Given the description of an element on the screen output the (x, y) to click on. 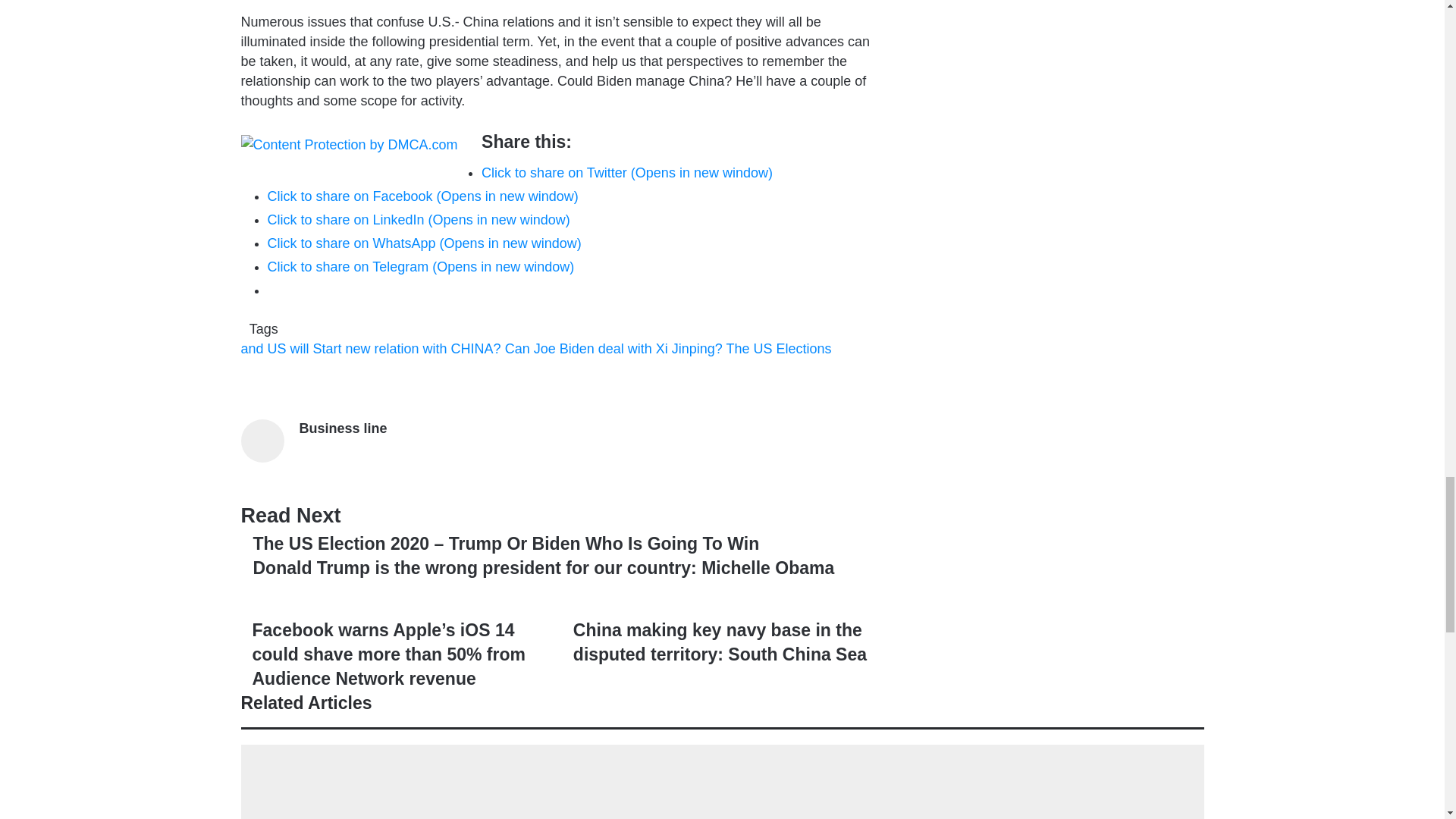
Click to share on WhatsApp (423, 242)
Click to share on Telegram (419, 266)
Click to share on LinkedIn (417, 219)
Click to share on Twitter (627, 172)
Click to share on Facebook (422, 196)
Content Protection by DMCA.com (349, 144)
